Given the description of an element on the screen output the (x, y) to click on. 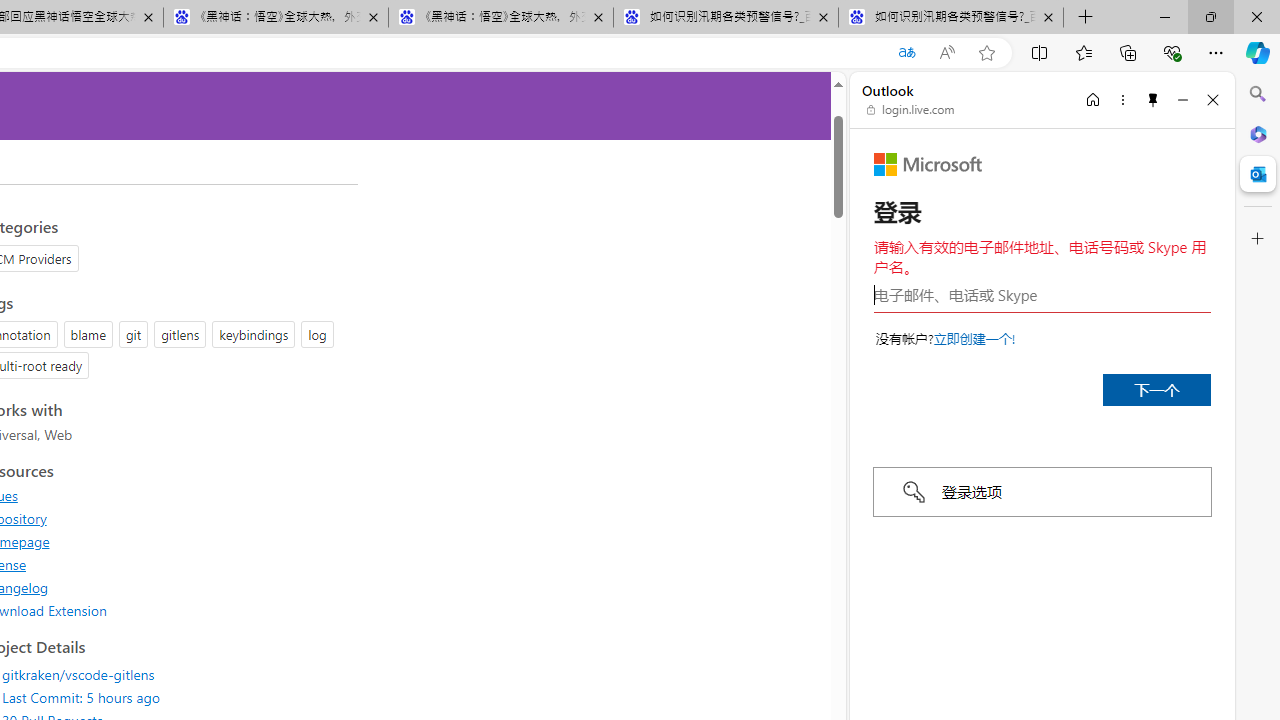
Microsoft (927, 164)
Translated (906, 53)
